Given the description of an element on the screen output the (x, y) to click on. 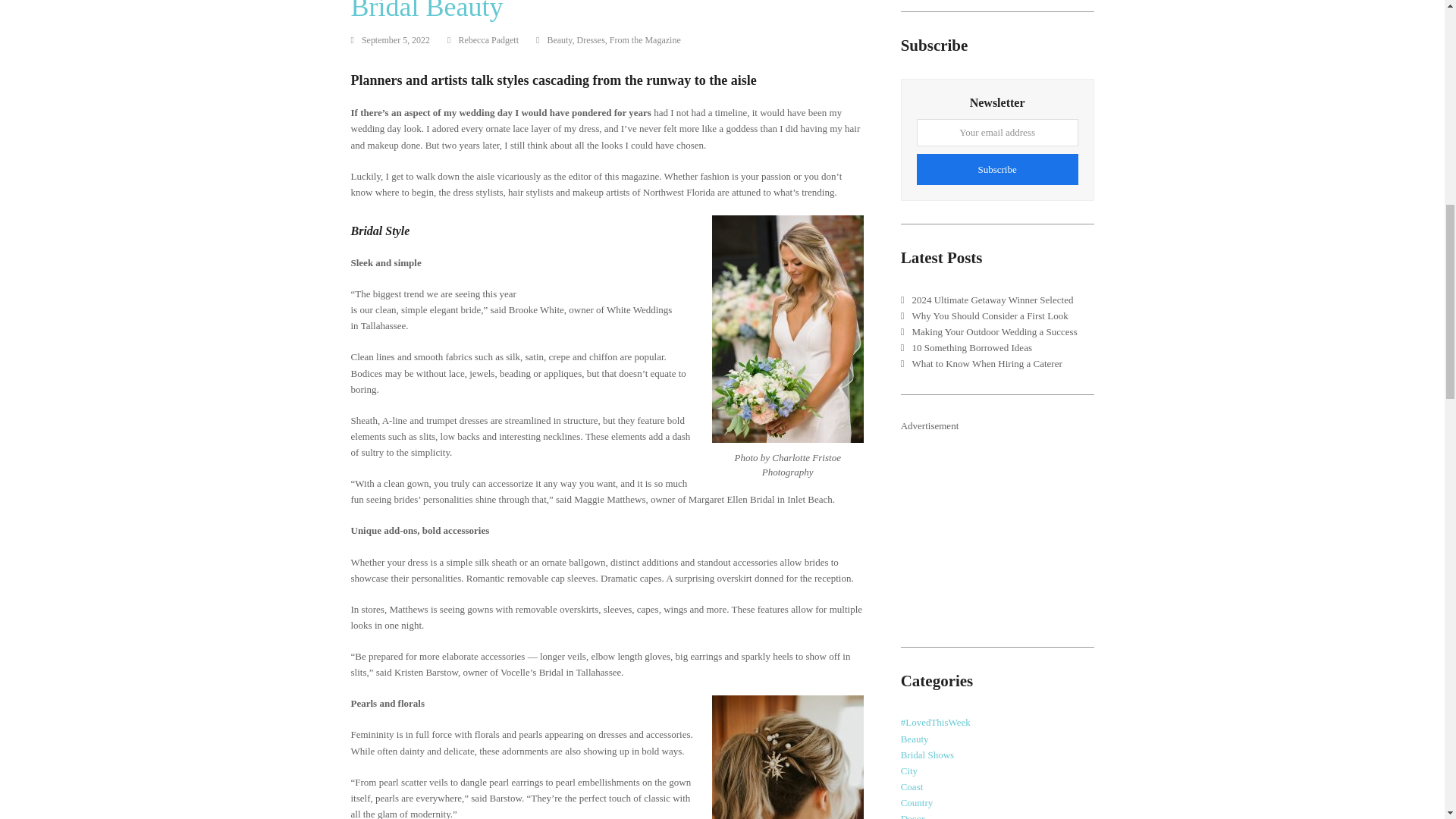
From the Magazine (645, 40)
Rebecca Padgett (488, 40)
Beauty (559, 40)
Posts by Rebecca Padgett (488, 40)
3rd party ad content (1014, 529)
Dresses (590, 40)
